Given the description of an element on the screen output the (x, y) to click on. 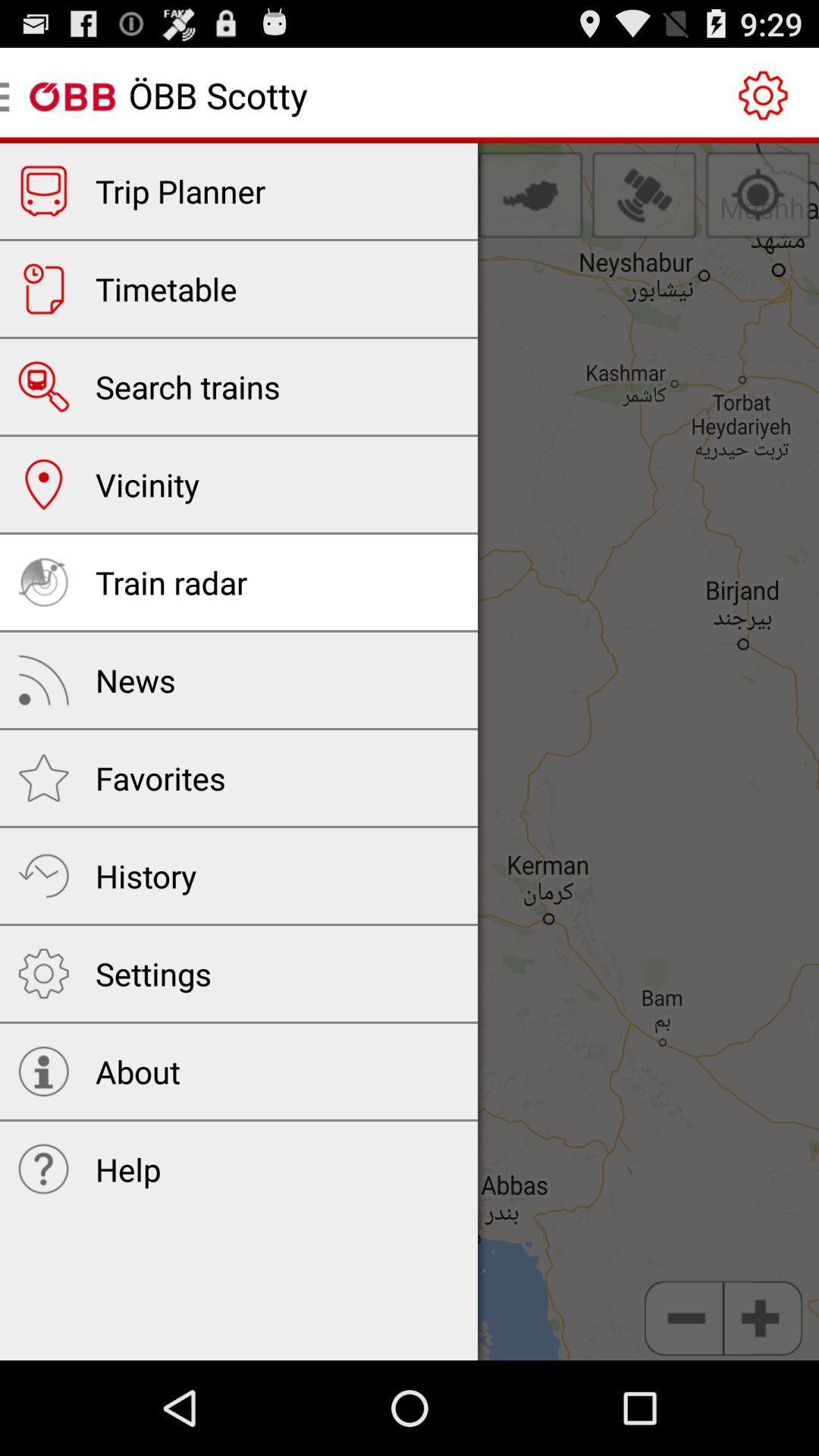
select the trip planner app (180, 190)
